Given the description of an element on the screen output the (x, y) to click on. 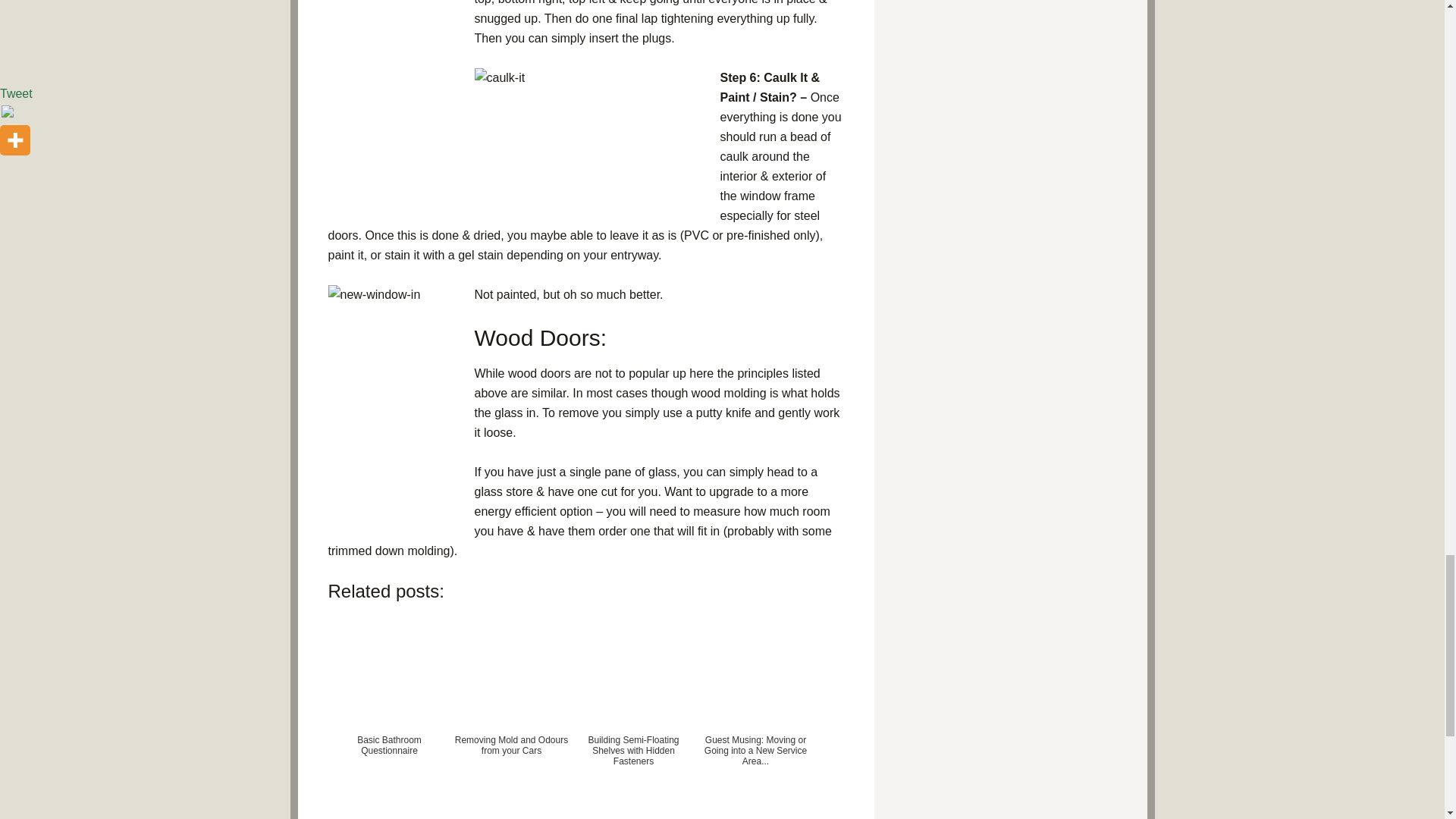
Patching a Damaged Shingle Roof (511, 808)
Tuesday Tip: How can I find... (388, 808)
Guest How-To: Covering a Basement Support Post (755, 808)
